Given the description of an element on the screen output the (x, y) to click on. 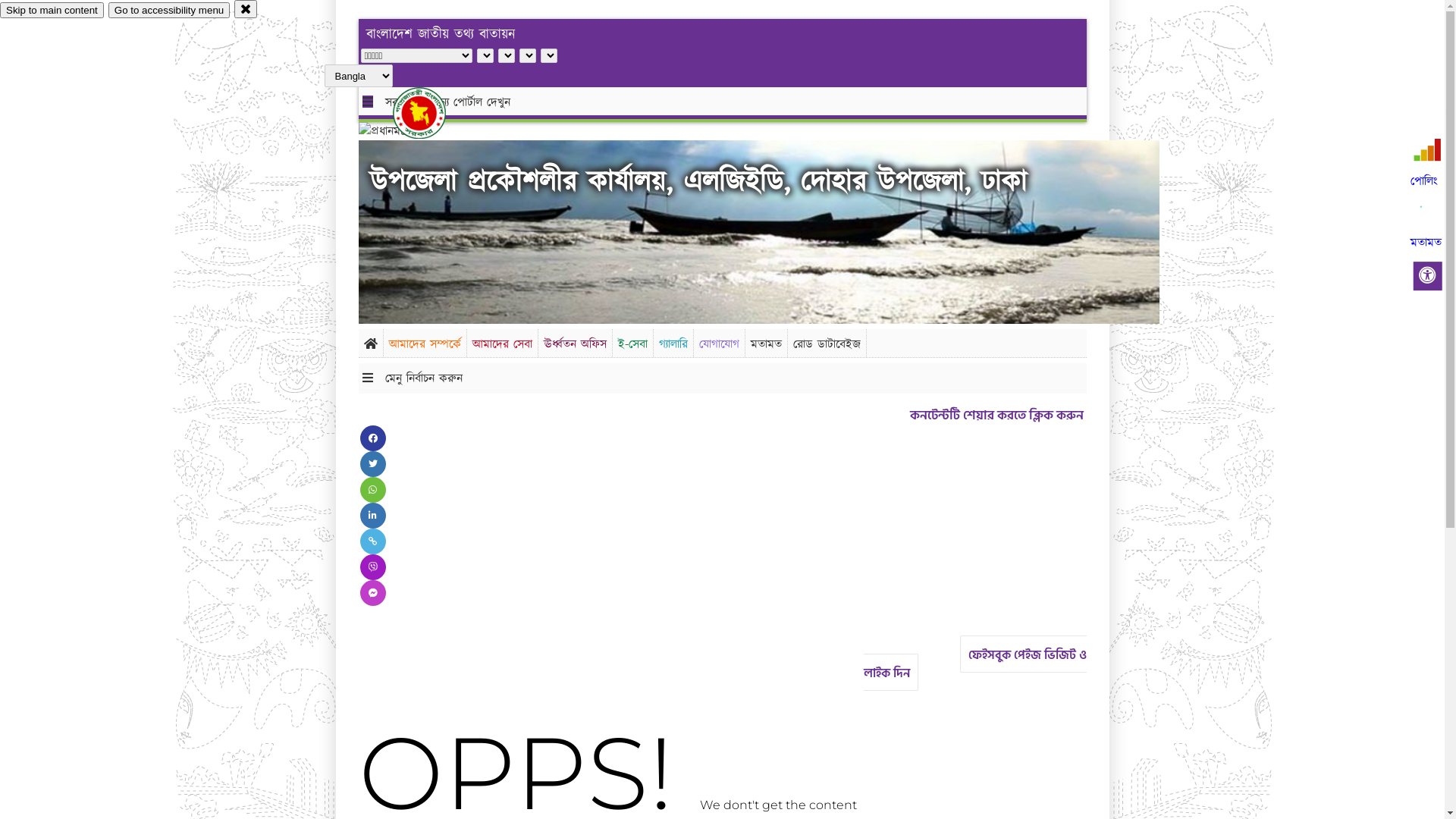
close Element type: hover (245, 9)
Go to accessibility menu Element type: text (168, 10)
Skip to main content Element type: text (51, 10)

                
             Element type: hover (431, 112)
